Given the description of an element on the screen output the (x, y) to click on. 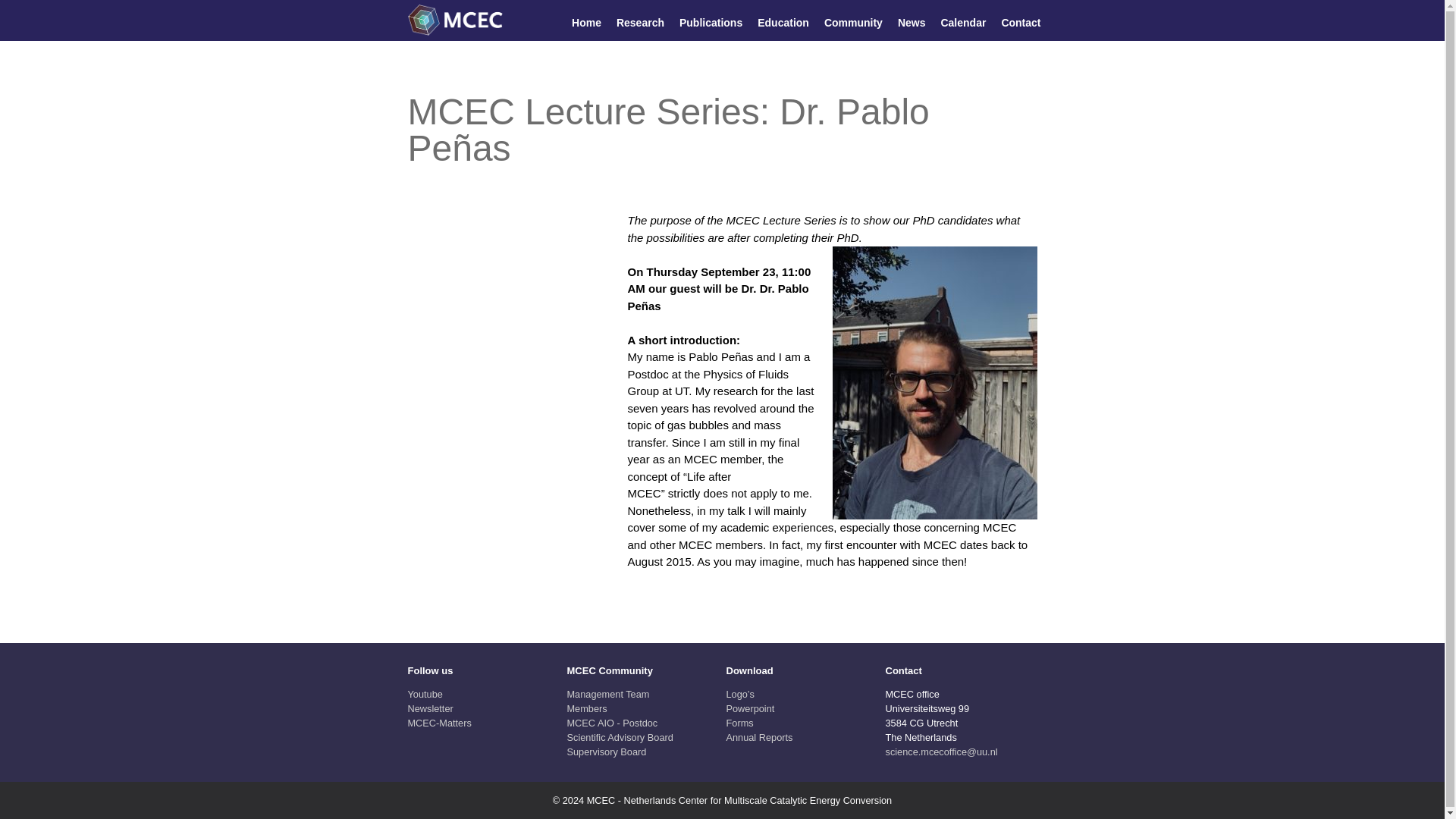
Research (639, 22)
Home (586, 22)
Newsletter (429, 708)
Downloads (750, 708)
Downloads (740, 694)
Organization (612, 722)
Community (853, 22)
Contact (1021, 22)
Youtube (424, 694)
Scientific Advisory Board (619, 737)
Powerpoint (750, 708)
Members (587, 708)
Supervisory Board (606, 751)
MCEC AIO - Postdoc (612, 722)
News (912, 22)
